Given the description of an element on the screen output the (x, y) to click on. 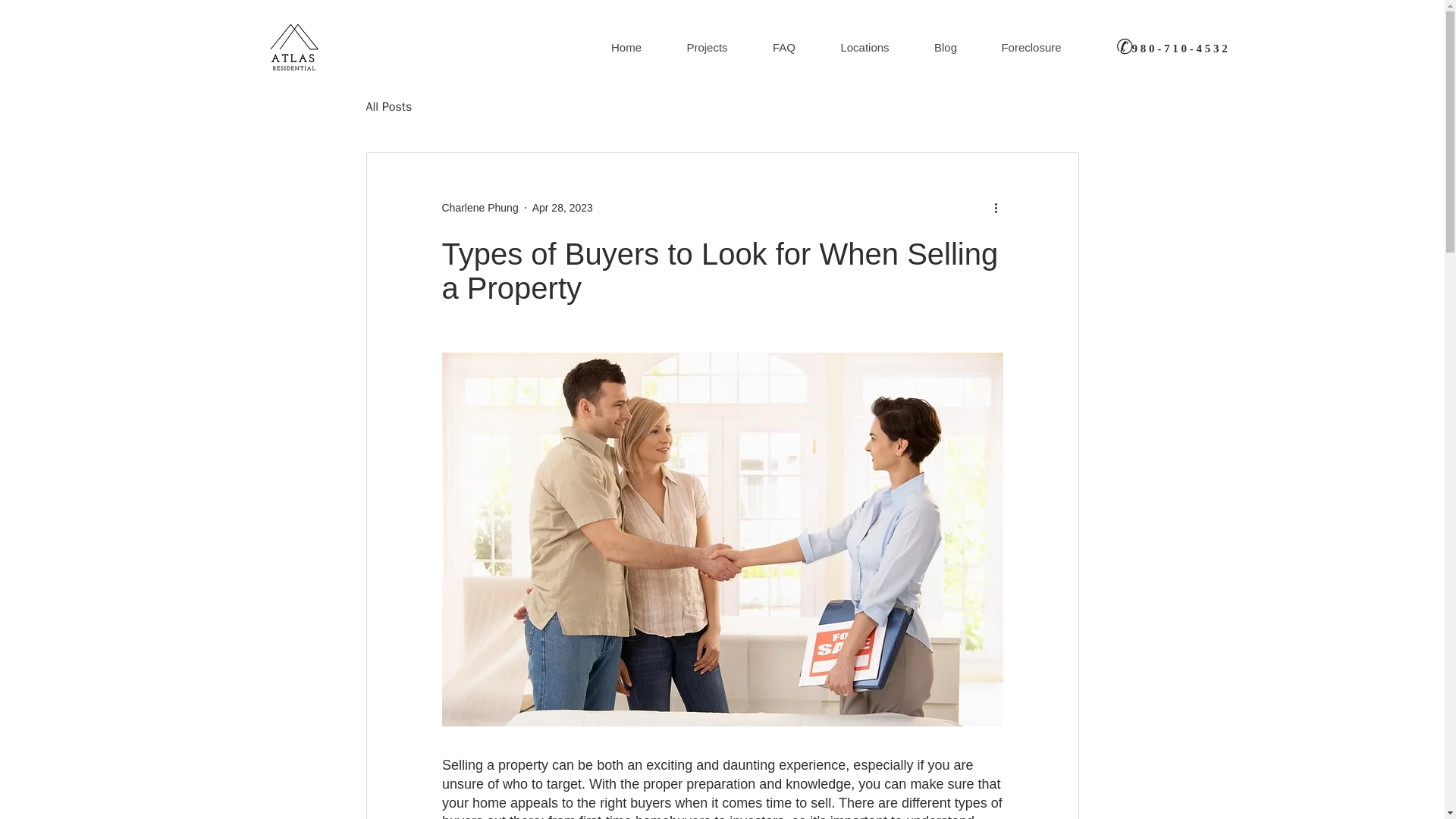
Foreclosure (1031, 47)
FAQ (782, 47)
Home (625, 47)
Apr 28, 2023 (562, 207)
Charlene Phung (479, 207)
All Posts (388, 106)
Blog (945, 47)
Projects (706, 47)
980-710-4532 (1180, 48)
